Given the description of an element on the screen output the (x, y) to click on. 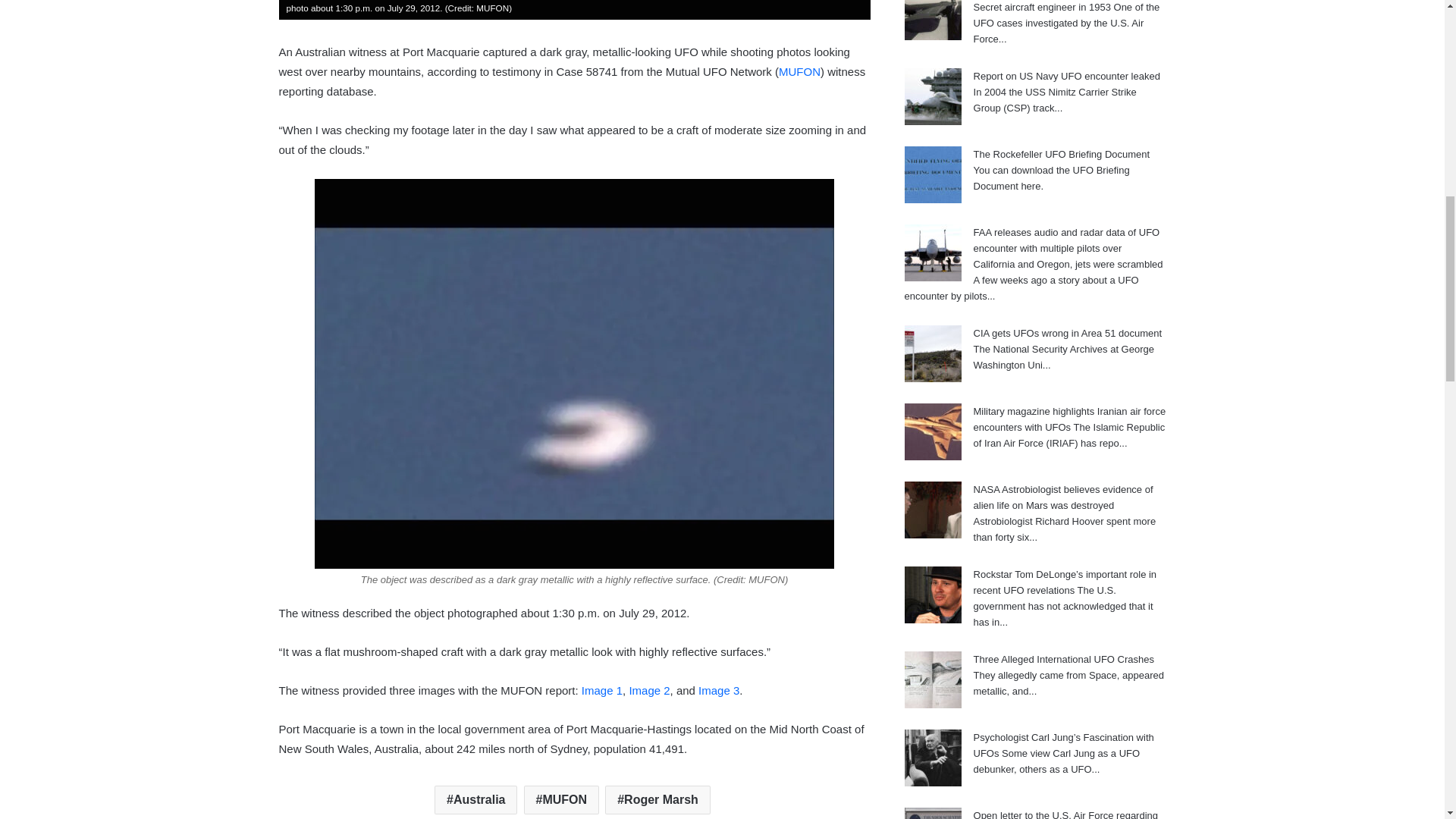
MUFON (799, 71)
